Given the description of an element on the screen output the (x, y) to click on. 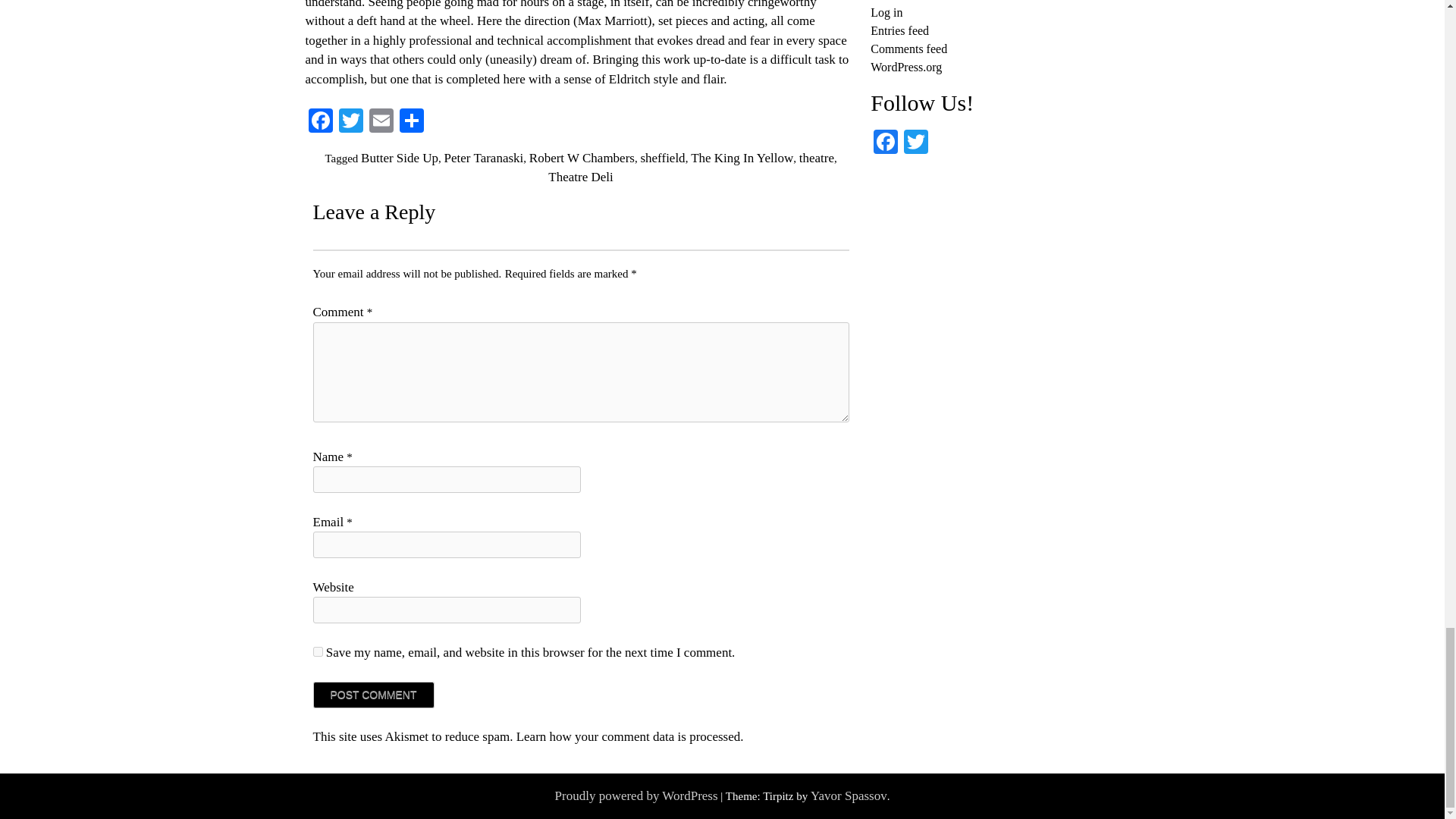
Butter Side Up (399, 157)
Post Comment (373, 694)
Robert W Chambers (581, 157)
Twitter (349, 122)
sheffield (662, 157)
yes (317, 651)
Learn how your comment data is processed (628, 736)
Twitter (916, 143)
theatre (816, 157)
Facebook (885, 143)
Theatre Deli (580, 176)
Twitter (349, 122)
Peter Taranaski (484, 157)
Facebook (319, 122)
Facebook (319, 122)
